Given the description of an element on the screen output the (x, y) to click on. 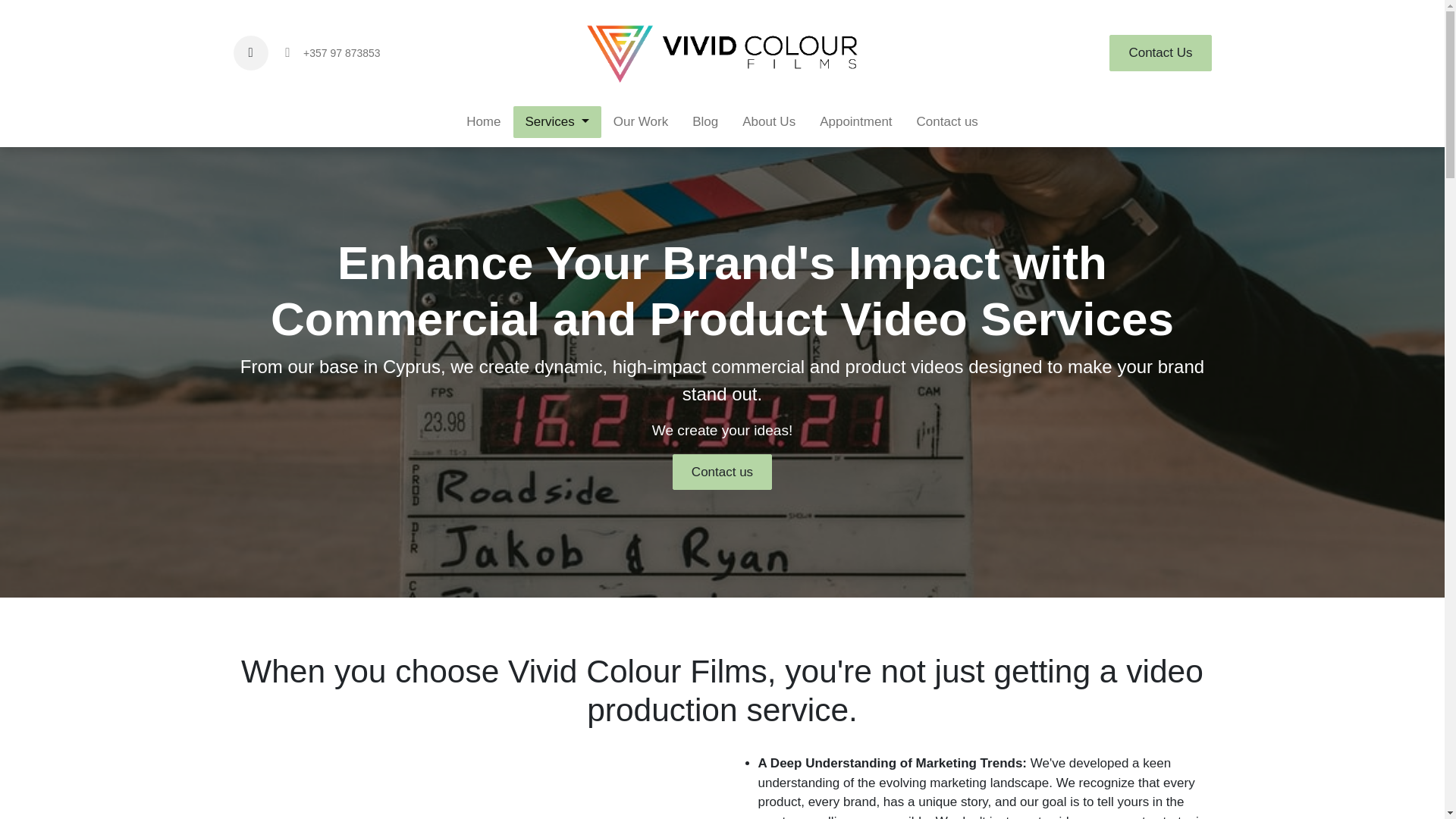
Vivid Colour FIlms (721, 52)
Home (483, 122)
Contact Us (1160, 53)
Blog (704, 122)
Contact us (947, 122)
Services (555, 122)
Contact us (721, 472)
Appointment (856, 122)
About Us (769, 122)
Our Work (640, 122)
